Given the description of an element on the screen output the (x, y) to click on. 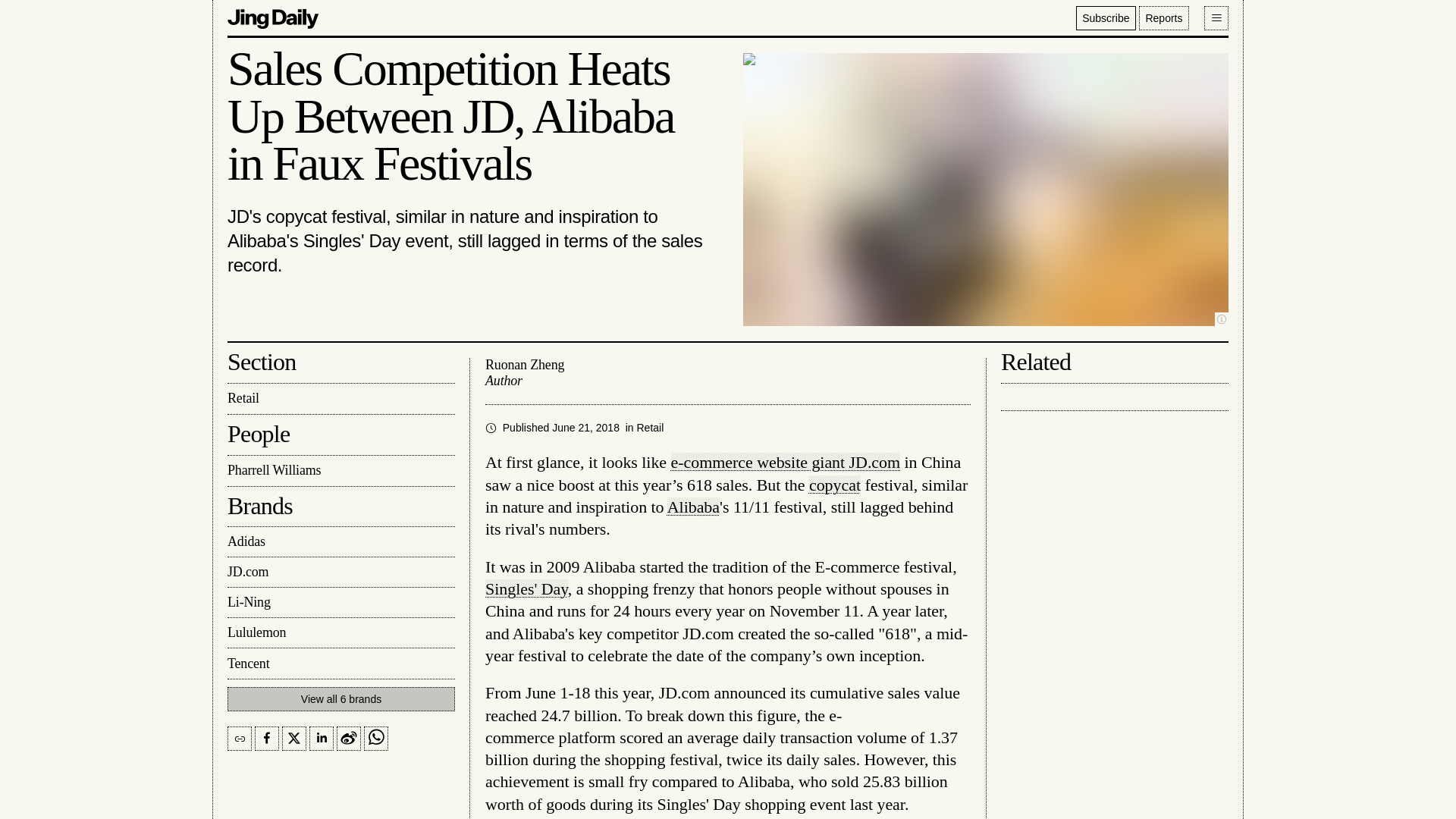
Tencent (340, 663)
Adidas (340, 542)
copycat (834, 484)
Alibaba (692, 506)
Retail (650, 427)
Subscribe (1105, 17)
Lululemon (340, 633)
Singles' Day (525, 588)
Lululemon (340, 633)
Jing Daily (272, 17)
Reports (1163, 17)
Reports (1163, 17)
JD.com (340, 572)
View all 6 brands (340, 699)
JD.com (340, 572)
